Given the description of an element on the screen output the (x, y) to click on. 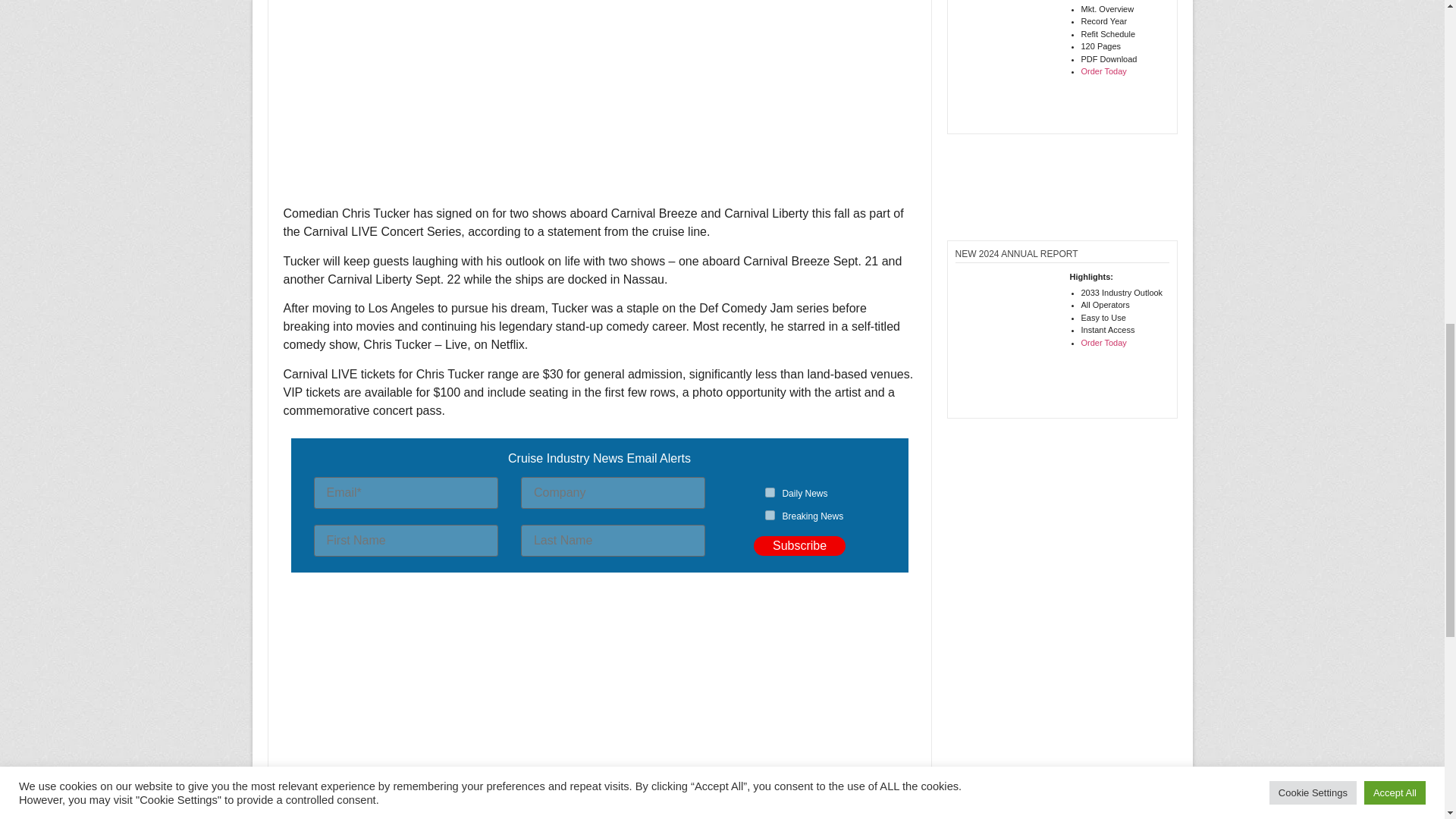
1 (769, 492)
2 (769, 515)
Subscribe (799, 546)
